Given the description of an element on the screen output the (x, y) to click on. 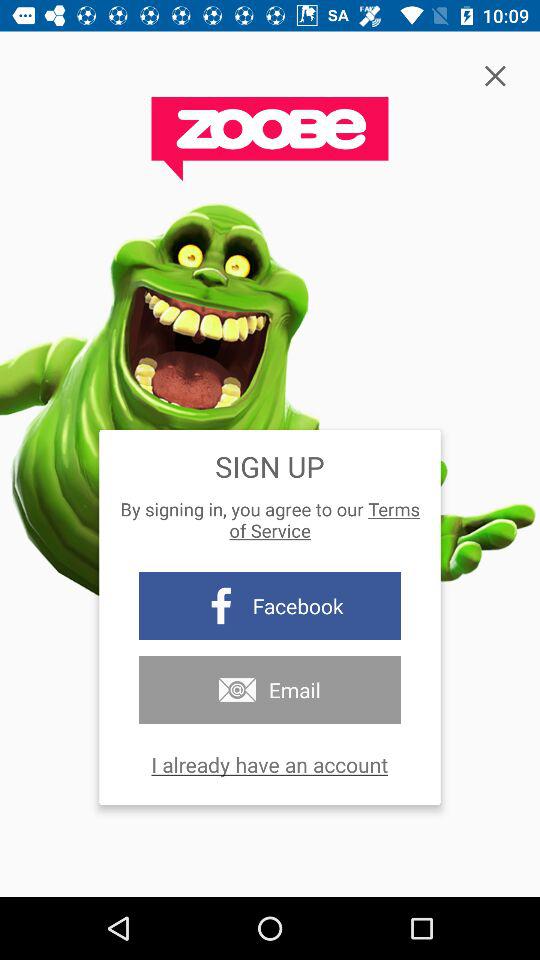
open the by signing in icon (269, 519)
